Given the description of an element on the screen output the (x, y) to click on. 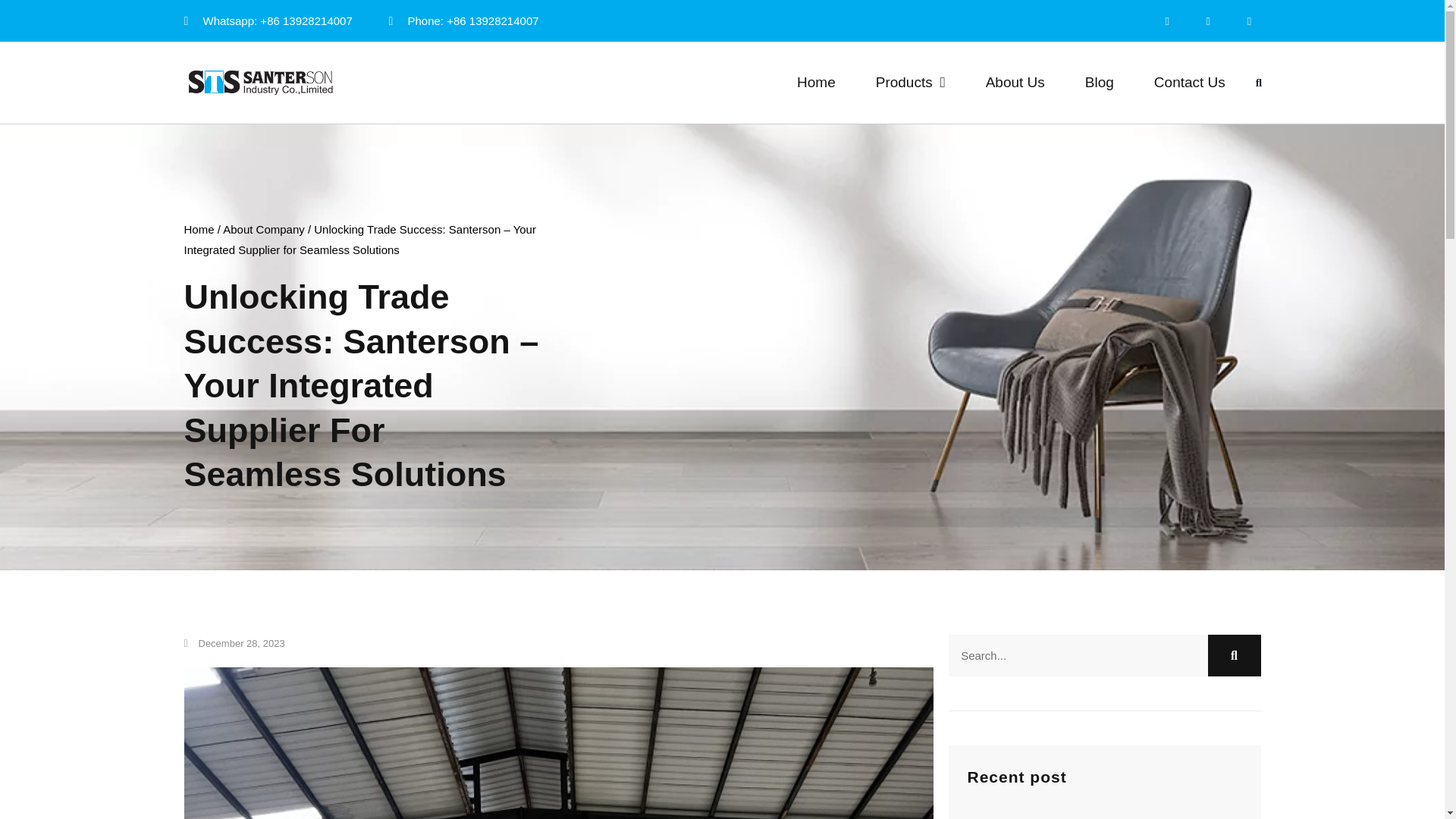
About Us (1014, 82)
Home (816, 82)
Blog (1099, 82)
Products (910, 82)
Contact Us (1189, 82)
